Given the description of an element on the screen output the (x, y) to click on. 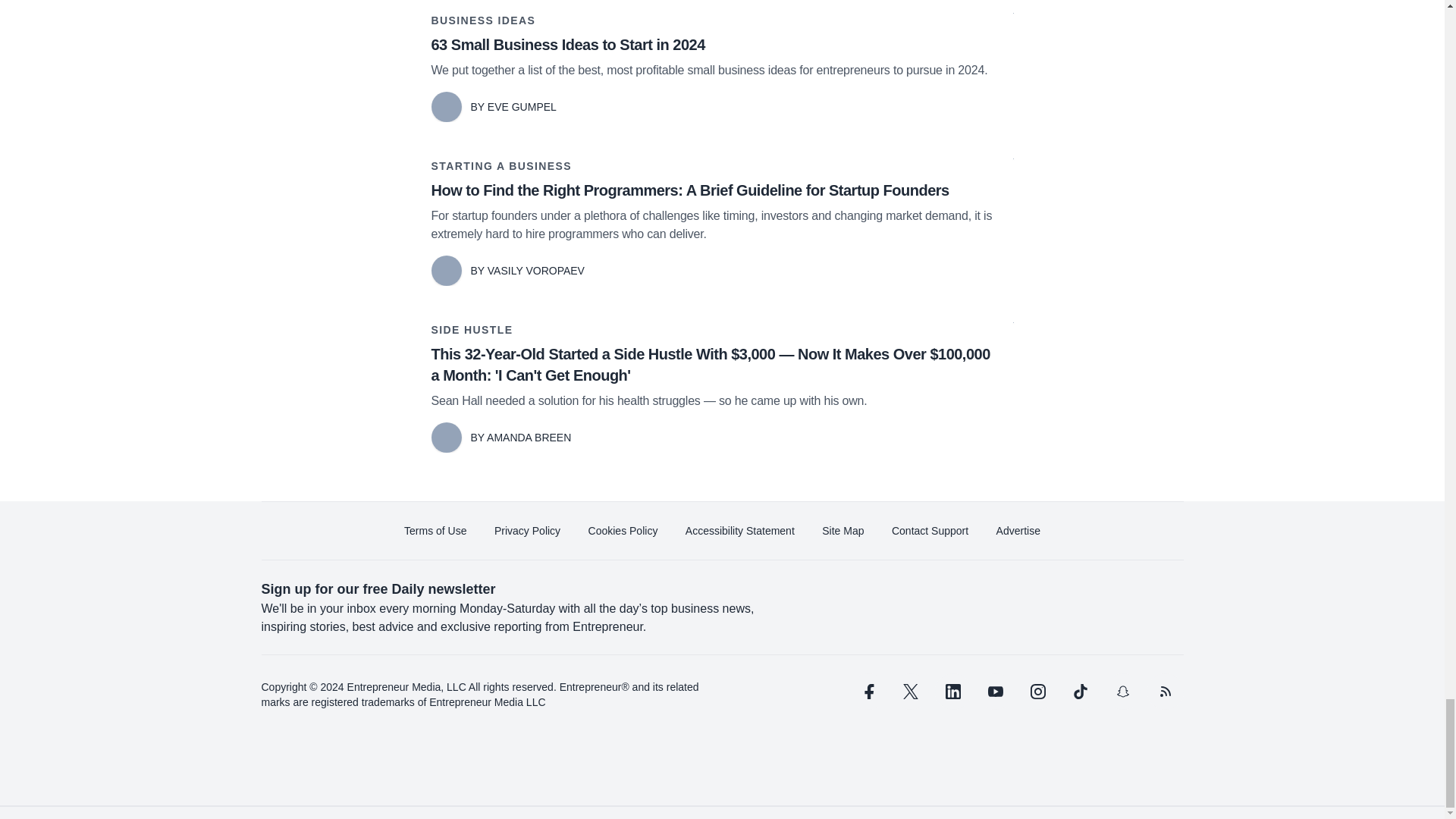
instagram (1037, 691)
facebook (866, 691)
linkedin (952, 691)
tiktok (1079, 691)
youtube (994, 691)
twitter (909, 691)
snapchat (1121, 691)
